Given the description of an element on the screen output the (x, y) to click on. 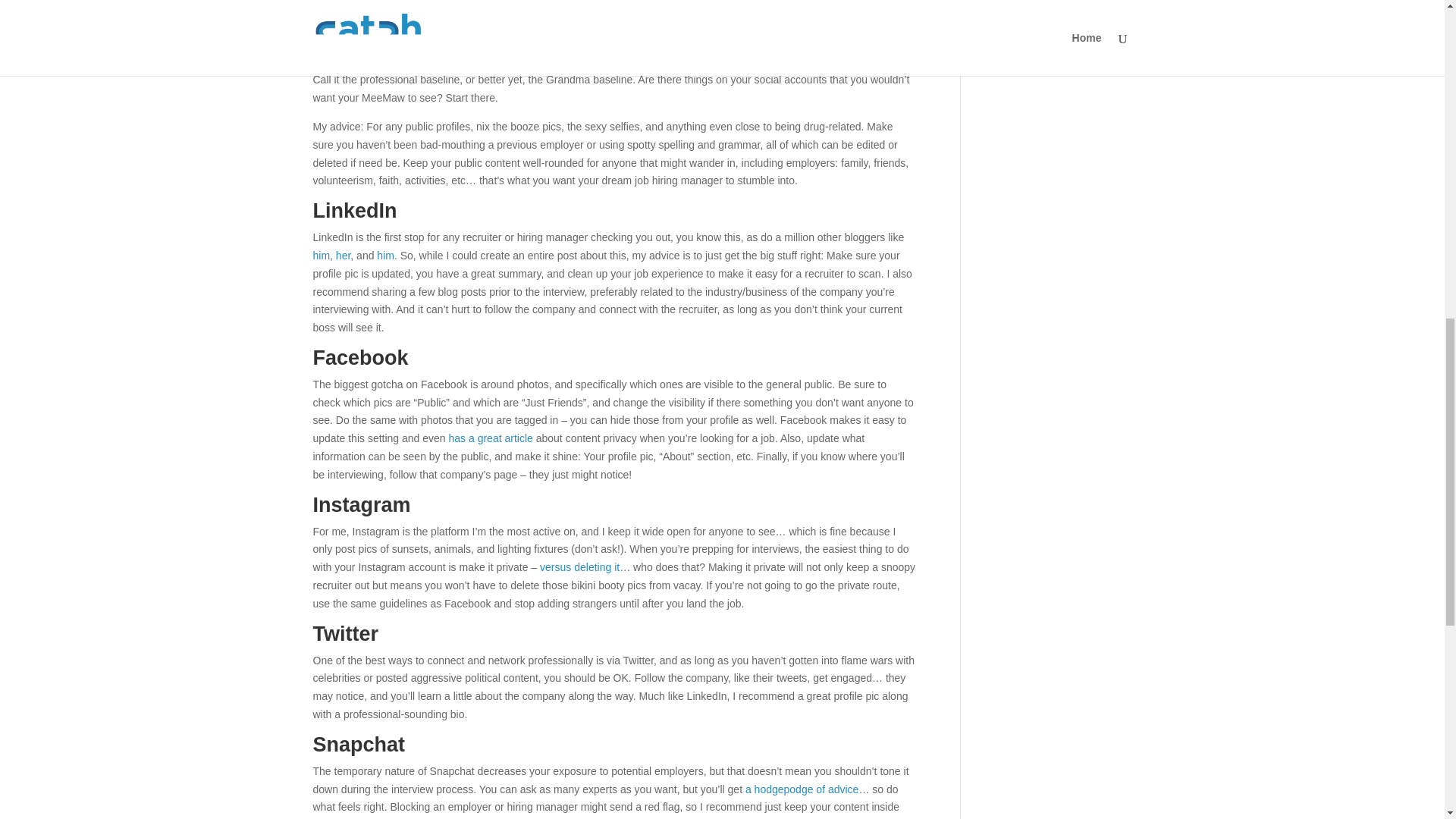
her (343, 255)
him (385, 255)
him (321, 255)
versus deleting it (580, 567)
a hodgepodge of advice (802, 788)
has a great article (490, 438)
